Given the description of an element on the screen output the (x, y) to click on. 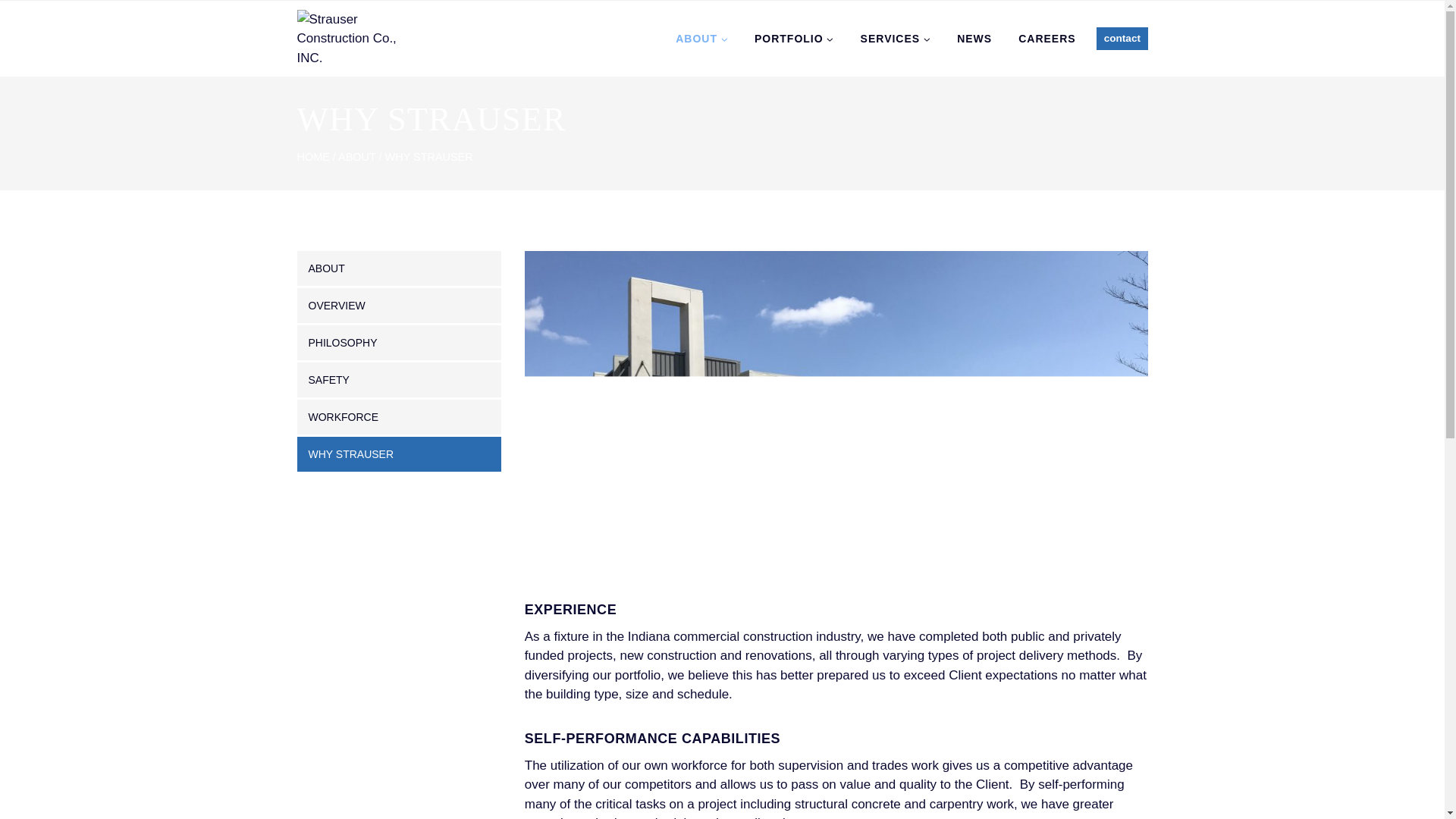
ABOUT (701, 38)
contact (1121, 38)
WORKFORCE (398, 416)
SAFETY (398, 379)
PORTFOLIO (794, 38)
ABOUT (398, 267)
HOME (313, 156)
NEWS (974, 38)
CAREERS (1047, 38)
ABOUT (356, 156)
